Given the description of an element on the screen output the (x, y) to click on. 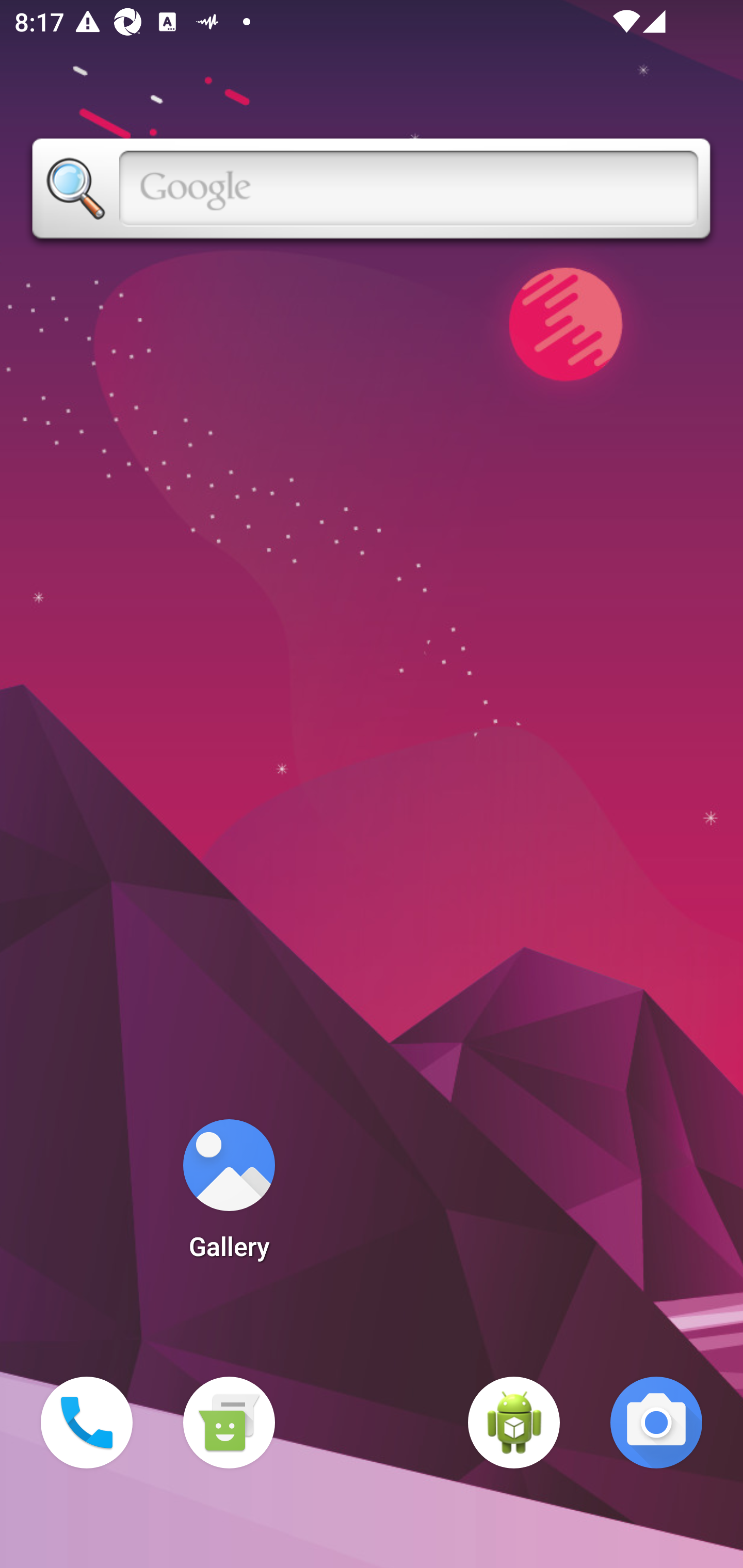
Gallery (228, 1195)
Phone (86, 1422)
Messaging (228, 1422)
WebView Browser Tester (513, 1422)
Camera (656, 1422)
